Given the description of an element on the screen output the (x, y) to click on. 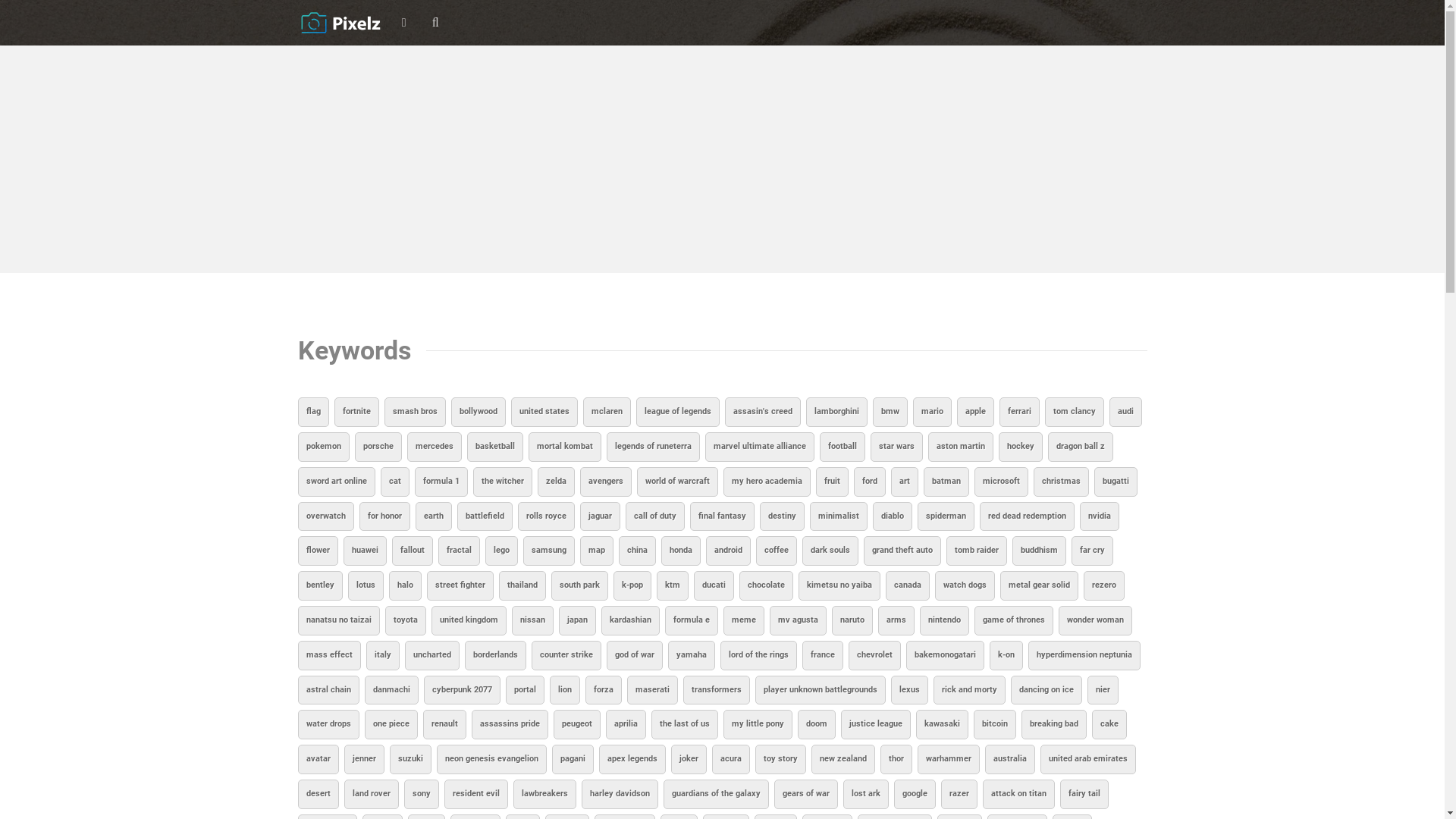
basketball Element type: text (495, 446)
portal Element type: text (524, 690)
suzuki Element type: text (410, 759)
cat Element type: text (394, 481)
fruit Element type: text (831, 481)
watch dogs Element type: text (964, 585)
nanatsu no taizai Element type: text (338, 620)
lotus Element type: text (364, 585)
for honor Element type: text (384, 516)
bmw Element type: text (889, 411)
jaguar Element type: text (599, 516)
pokemon Element type: text (322, 446)
ford Element type: text (869, 481)
one piece Element type: text (390, 724)
lexus Element type: text (908, 690)
huawei Element type: text (363, 550)
chevrolet Element type: text (873, 655)
christmas Element type: text (1060, 481)
tomb raider Element type: text (976, 550)
rezero Element type: text (1102, 585)
astral chain Element type: text (327, 690)
red dead redemption Element type: text (1026, 516)
south park Element type: text (578, 585)
art Element type: text (903, 481)
overwatch Element type: text (325, 516)
naruto Element type: text (851, 620)
acura Element type: text (730, 759)
toy story Element type: text (780, 759)
street fighter Element type: text (459, 585)
apex legends Element type: text (632, 759)
mclaren Element type: text (606, 411)
forza Element type: text (603, 690)
assassins pride Element type: text (509, 724)
kardashian Element type: text (629, 620)
my little pony Element type: text (757, 724)
rick and morty Element type: text (968, 690)
canada Element type: text (907, 585)
league of legends Element type: text (676, 411)
lion Element type: text (564, 690)
smash bros Element type: text (414, 411)
honda Element type: text (680, 550)
pagani Element type: text (572, 759)
meme Element type: text (743, 620)
fallout Element type: text (411, 550)
guardians of the galaxy Element type: text (715, 794)
apple Element type: text (975, 411)
danmachi Element type: text (390, 690)
halo Element type: text (404, 585)
nier Element type: text (1102, 690)
world of warcraft Element type: text (677, 481)
k-on Element type: text (1005, 655)
razer Element type: text (958, 794)
destiny Element type: text (781, 516)
ktm Element type: text (672, 585)
formula e Element type: text (690, 620)
metal gear solid Element type: text (1038, 585)
land rover Element type: text (371, 794)
minimalist Element type: text (838, 516)
arms Element type: text (896, 620)
my hero academia Element type: text (766, 481)
australia Element type: text (1009, 759)
mass effect Element type: text (328, 655)
fairy tail Element type: text (1084, 794)
cyberpunk 2077 Element type: text (461, 690)
wonder woman Element type: text (1095, 620)
microsoft Element type: text (1000, 481)
attack on titan Element type: text (1018, 794)
united arab emirates Element type: text (1087, 759)
mario Element type: text (932, 411)
new zealand Element type: text (843, 759)
dragon ball z Element type: text (1080, 446)
france Element type: text (822, 655)
hyperdimension neptunia Element type: text (1084, 655)
desert Element type: text (317, 794)
ferrari Element type: text (1019, 411)
mercedes Element type: text (433, 446)
lamborghini Element type: text (835, 411)
aprilia Element type: text (625, 724)
fortnite Element type: text (355, 411)
star wars Element type: text (896, 446)
google Element type: text (914, 794)
united states Element type: text (544, 411)
football Element type: text (841, 446)
lawbreakers Element type: text (543, 794)
nissan Element type: text (531, 620)
transformers Element type: text (715, 690)
china Element type: text (636, 550)
coffee Element type: text (775, 550)
japan Element type: text (576, 620)
borderlands Element type: text (494, 655)
lego Element type: text (501, 550)
final fantasy Element type: text (722, 516)
mv agusta Element type: text (796, 620)
mortal kombat Element type: text (563, 446)
samsung Element type: text (548, 550)
fractal Element type: text (459, 550)
Advertisement Element type: hover (721, 159)
formula 1 Element type: text (440, 481)
sword art online Element type: text (335, 481)
chocolate Element type: text (765, 585)
uncharted Element type: text (431, 655)
the witcher Element type: text (502, 481)
nvidia Element type: text (1099, 516)
counter strike Element type: text (565, 655)
rolls royce Element type: text (545, 516)
buddhism Element type: text (1038, 550)
assasin's creed Element type: text (762, 411)
doom Element type: text (816, 724)
lost ark Element type: text (865, 794)
avengers Element type: text (604, 481)
bitcoin Element type: text (994, 724)
warhammer Element type: text (948, 759)
aston martin Element type: text (960, 446)
kimetsu no yaiba Element type: text (838, 585)
flag Element type: text (312, 411)
resident evil Element type: text (476, 794)
thor Element type: text (895, 759)
renault Element type: text (444, 724)
united kingdom Element type: text (467, 620)
bollywood Element type: text (477, 411)
italy Element type: text (381, 655)
nintendo Element type: text (943, 620)
maserati Element type: text (651, 690)
peugeot Element type: text (576, 724)
dark souls Element type: text (830, 550)
water drops Element type: text (327, 724)
batman Element type: text (946, 481)
joker Element type: text (688, 759)
map Element type: text (595, 550)
gears of war Element type: text (805, 794)
flower Element type: text (317, 550)
thailand Element type: text (522, 585)
kawasaki Element type: text (942, 724)
game of thrones Element type: text (1012, 620)
the last of us Element type: text (683, 724)
spiderman Element type: text (945, 516)
avatar Element type: text (317, 759)
grand theft auto Element type: text (901, 550)
bentley Element type: text (319, 585)
cake Element type: text (1109, 724)
ducati Element type: text (713, 585)
earth Element type: text (433, 516)
porsche Element type: text (377, 446)
Pixelz Element type: hover (341, 22)
neon genesis evangelion Element type: text (491, 759)
yamaha Element type: text (690, 655)
bakemonogatari Element type: text (944, 655)
jenner Element type: text (364, 759)
tom clancy Element type: text (1074, 411)
god of war Element type: text (634, 655)
bugatti Element type: text (1114, 481)
call of duty Element type: text (654, 516)
toyota Element type: text (405, 620)
k-pop Element type: text (631, 585)
breaking bad Element type: text (1052, 724)
justice league Element type: text (875, 724)
dancing on ice Element type: text (1045, 690)
marvel ultimate alliance Element type: text (759, 446)
harley davidson Element type: text (618, 794)
android Element type: text (727, 550)
lord of the rings Element type: text (758, 655)
sony Element type: text (420, 794)
diablo Element type: text (891, 516)
battlefield Element type: text (483, 516)
audi Element type: text (1124, 411)
legends of runeterra Element type: text (652, 446)
far cry Element type: text (1091, 550)
player unknown battlegrounds Element type: text (820, 690)
zelda Element type: text (555, 481)
hockey Element type: text (1019, 446)
